Given the description of an element on the screen output the (x, y) to click on. 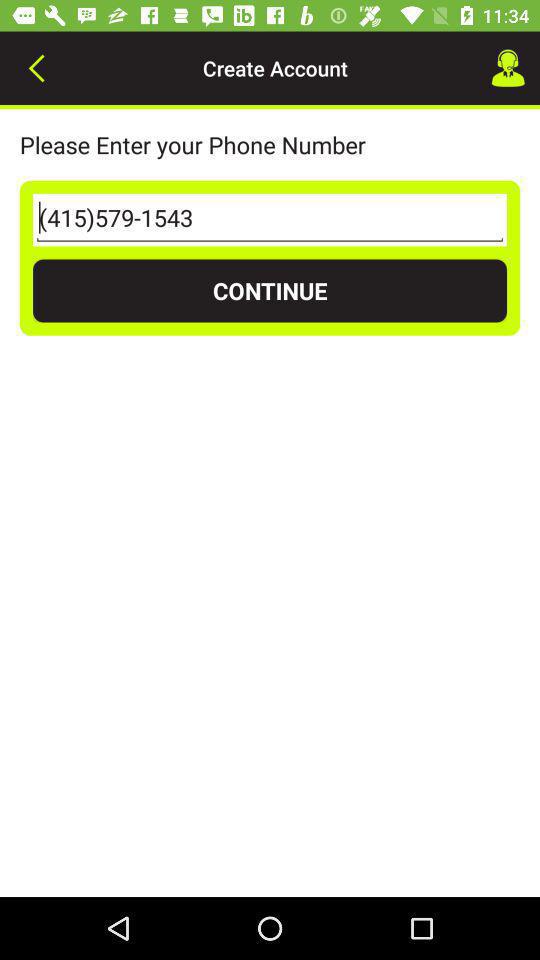
turn off icon to the left of create account icon (36, 68)
